Given the description of an element on the screen output the (x, y) to click on. 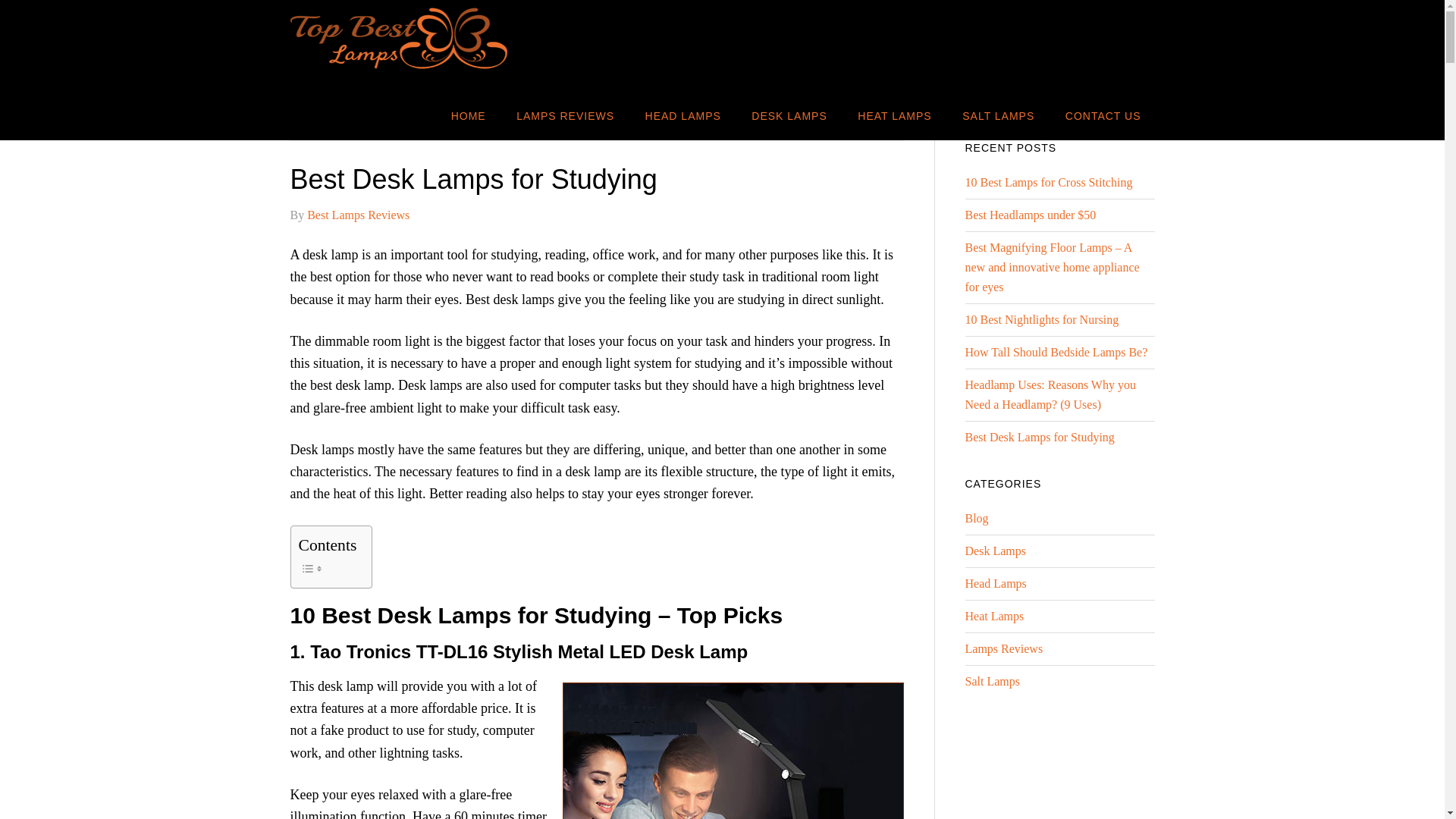
Desk Lamps (373, 122)
CONTACT US (1102, 115)
HEAD LAMPS (683, 115)
Home (316, 122)
Best Lamps Reviews (358, 214)
HEAT LAMPS (894, 115)
HOME (468, 115)
